Given the description of an element on the screen output the (x, y) to click on. 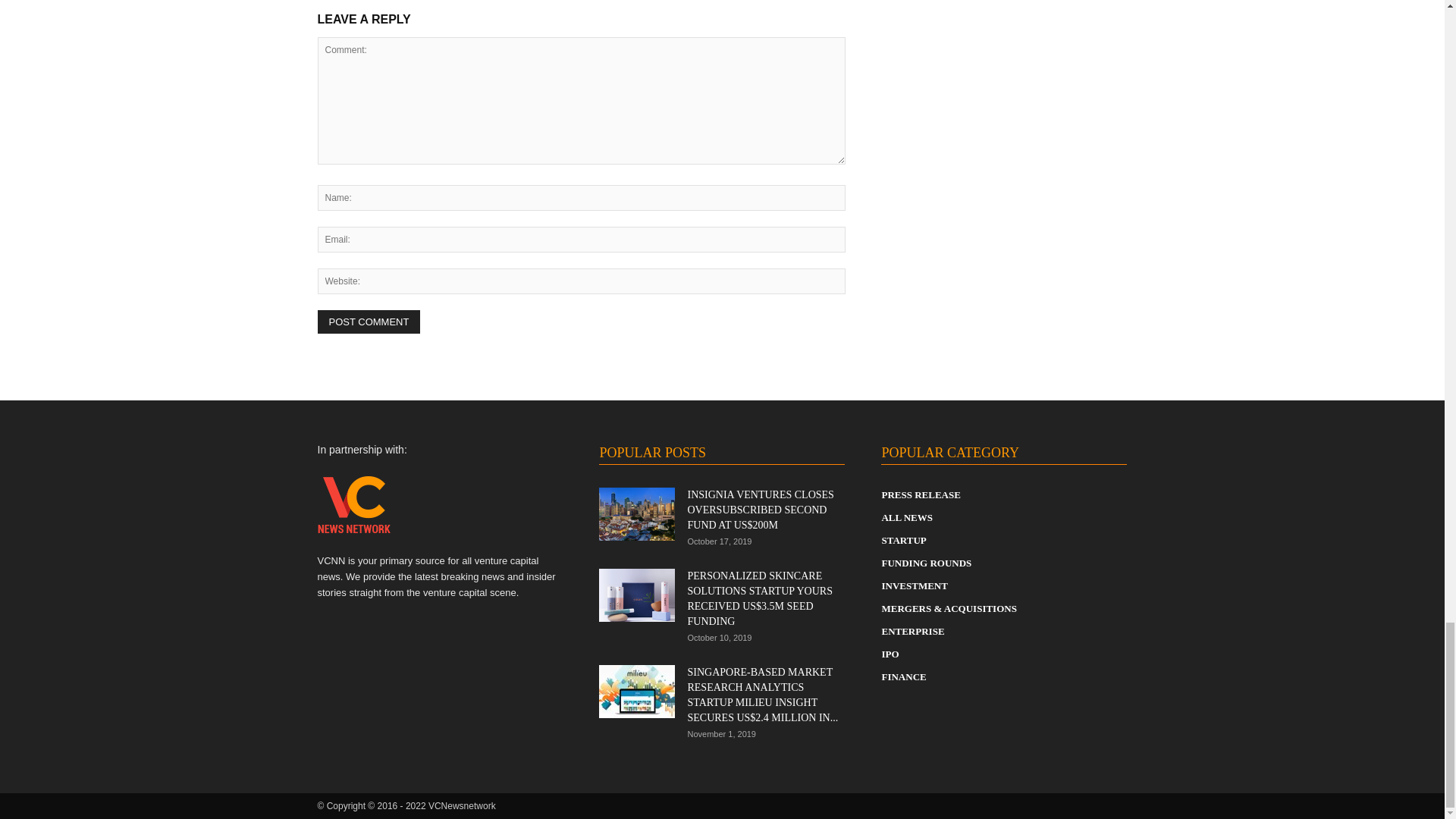
Post Comment (368, 321)
